Given the description of an element on the screen output the (x, y) to click on. 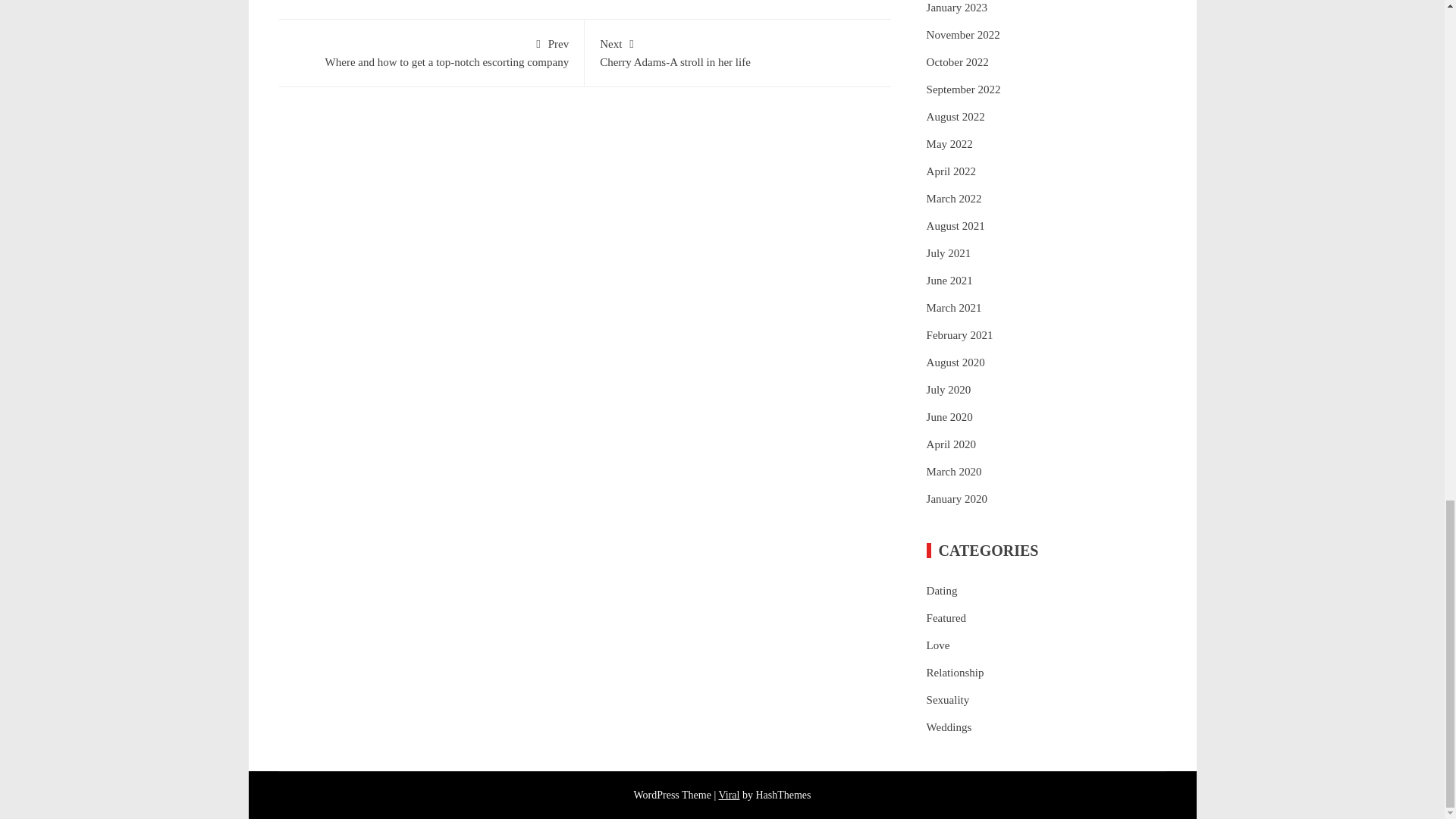
January 2023 (431, 51)
Download Viral (956, 7)
